Given the description of an element on the screen output the (x, y) to click on. 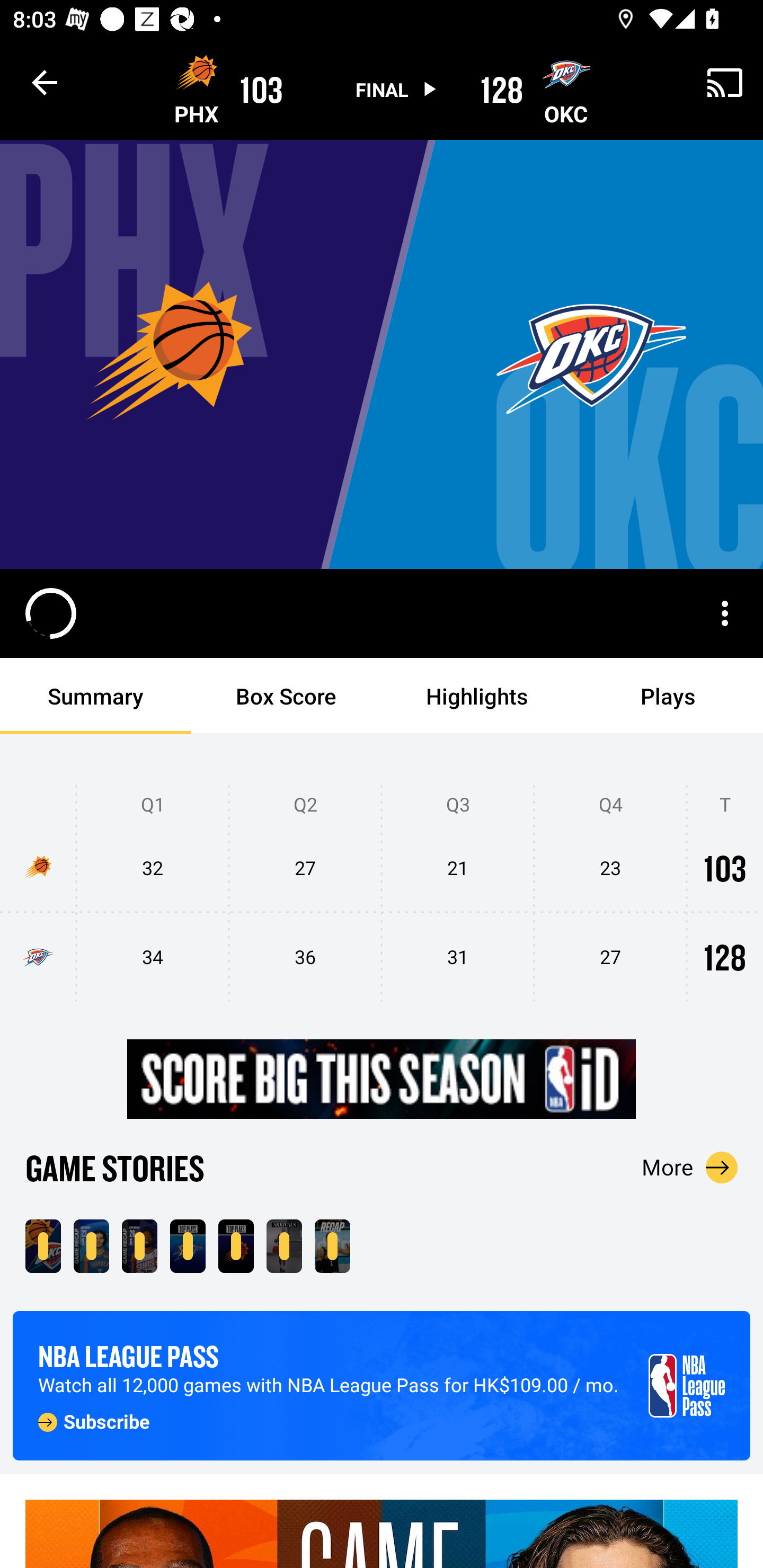
Navigate up (44, 82)
Cast. Disconnected (724, 82)
More options (724, 613)
Box Score (285, 695)
Highlights (476, 695)
Plays (667, 695)
Q1 Q2 Q3 Q4 T 32 27 21 23 103 34 36 31 27 128 (381, 893)
g5nqqygr7owph (381, 1079)
More (689, 1166)
NEW PHX @ OKC HIGHLIGHTS (43, 1246)
NEW Highlights From Josh Giddey's 23-Point Game (91, 1246)
NEW Highlights From Kevin Durant's 26-Point Game (139, 1246)
NEW OKC's Top Plays from PHX vs. OKC (187, 1246)
NEW PHX's Top Plays from PHX vs. OKC (236, 1246)
Friday Night Fashion 😎 NEW (284, 1246)
Friday's Recap NEW (332, 1246)
